Given the description of an element on the screen output the (x, y) to click on. 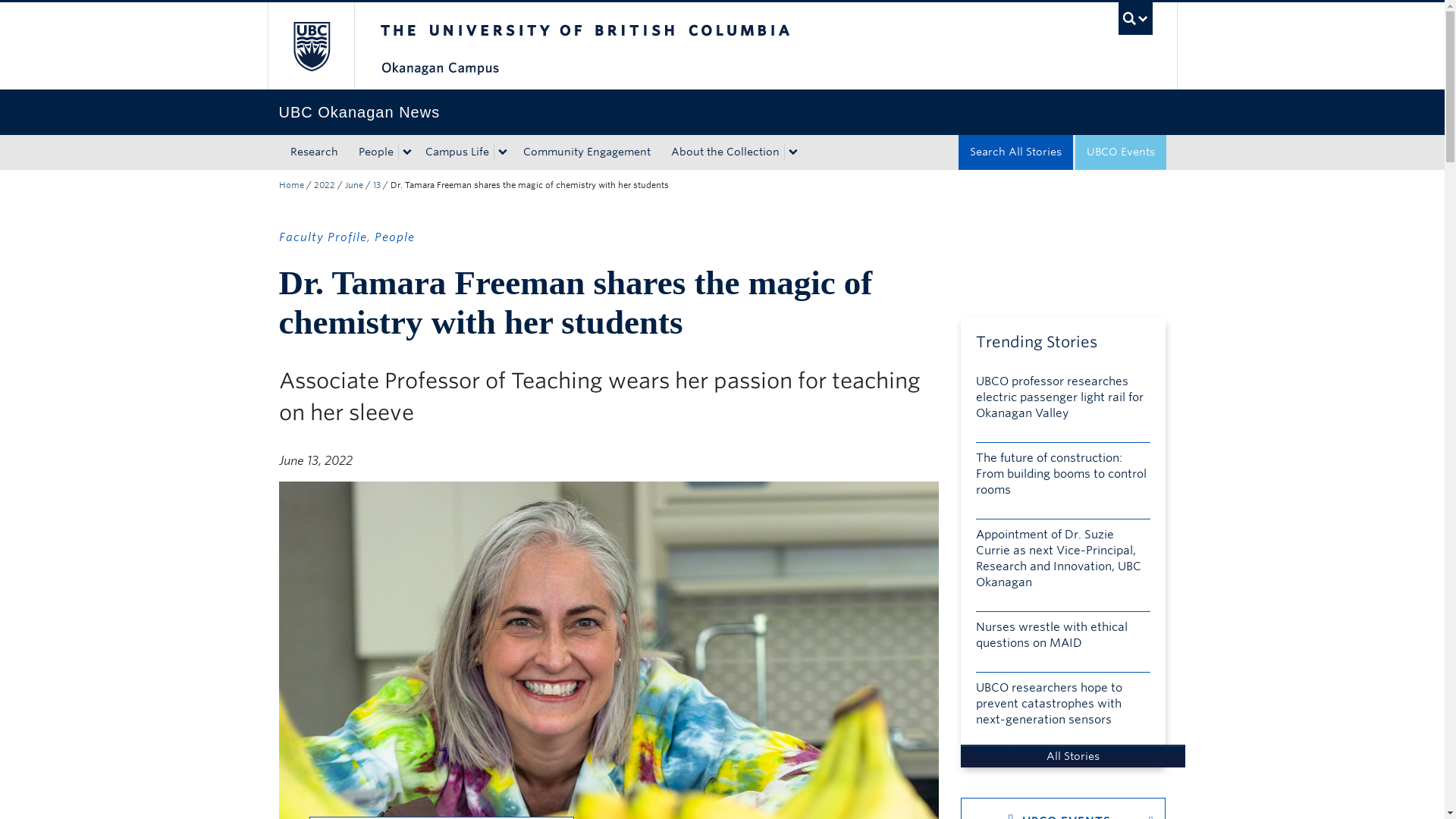
Events (1120, 151)
About the Collection (722, 151)
UBC Okanagan News (722, 112)
UBC Okanagan News (291, 184)
Home (291, 184)
UBC Search (1135, 18)
Community Engagement (586, 151)
Research (314, 151)
People (373, 151)
The University of British Columbia (635, 45)
2022 (324, 184)
The University of British Columbia (309, 45)
Search All Stories (1015, 151)
UBC Okanagan News (722, 112)
2022 (324, 184)
